Given the description of an element on the screen output the (x, y) to click on. 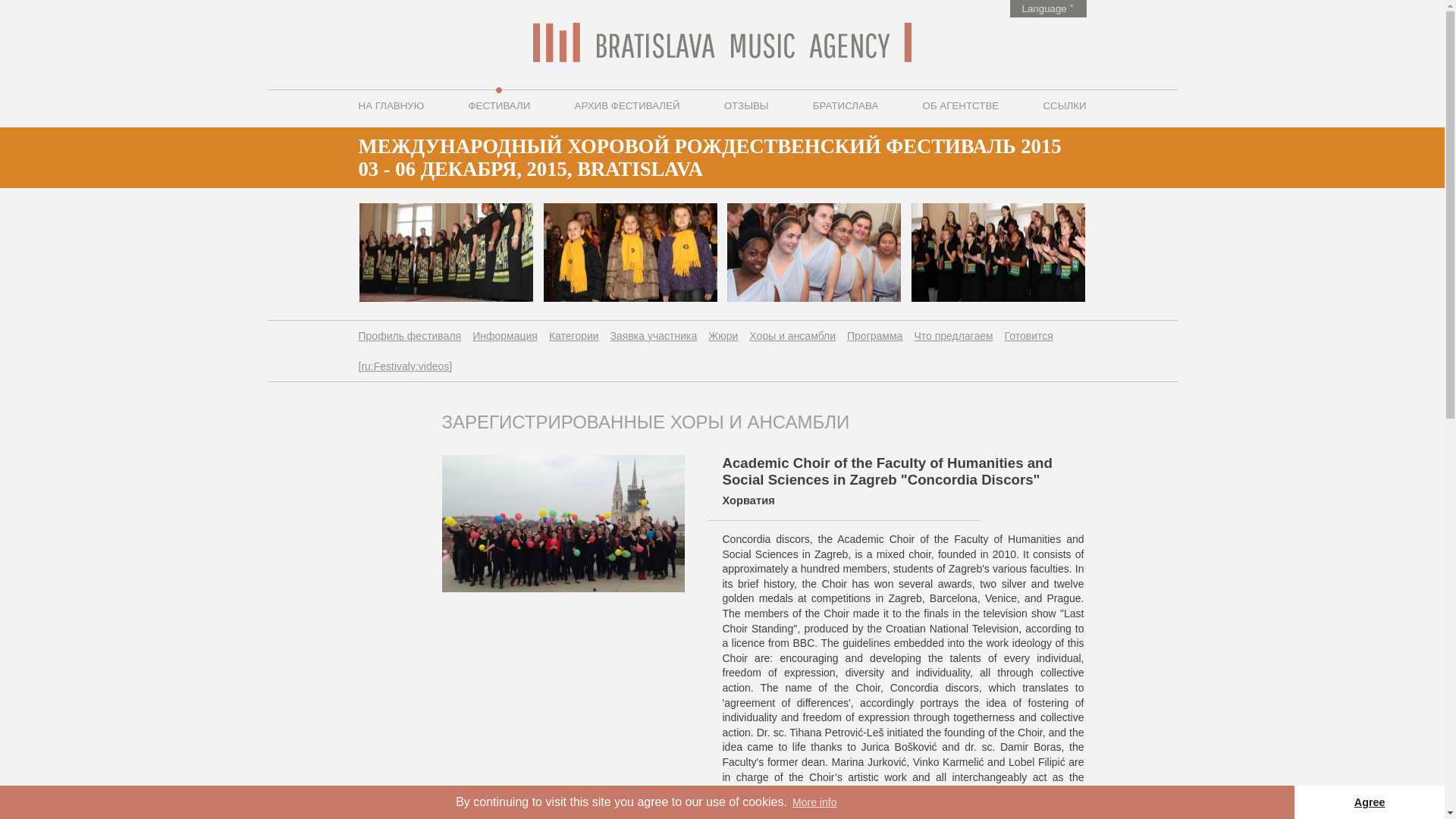
More info (814, 801)
Agree (1369, 802)
